Given the description of an element on the screen output the (x, y) to click on. 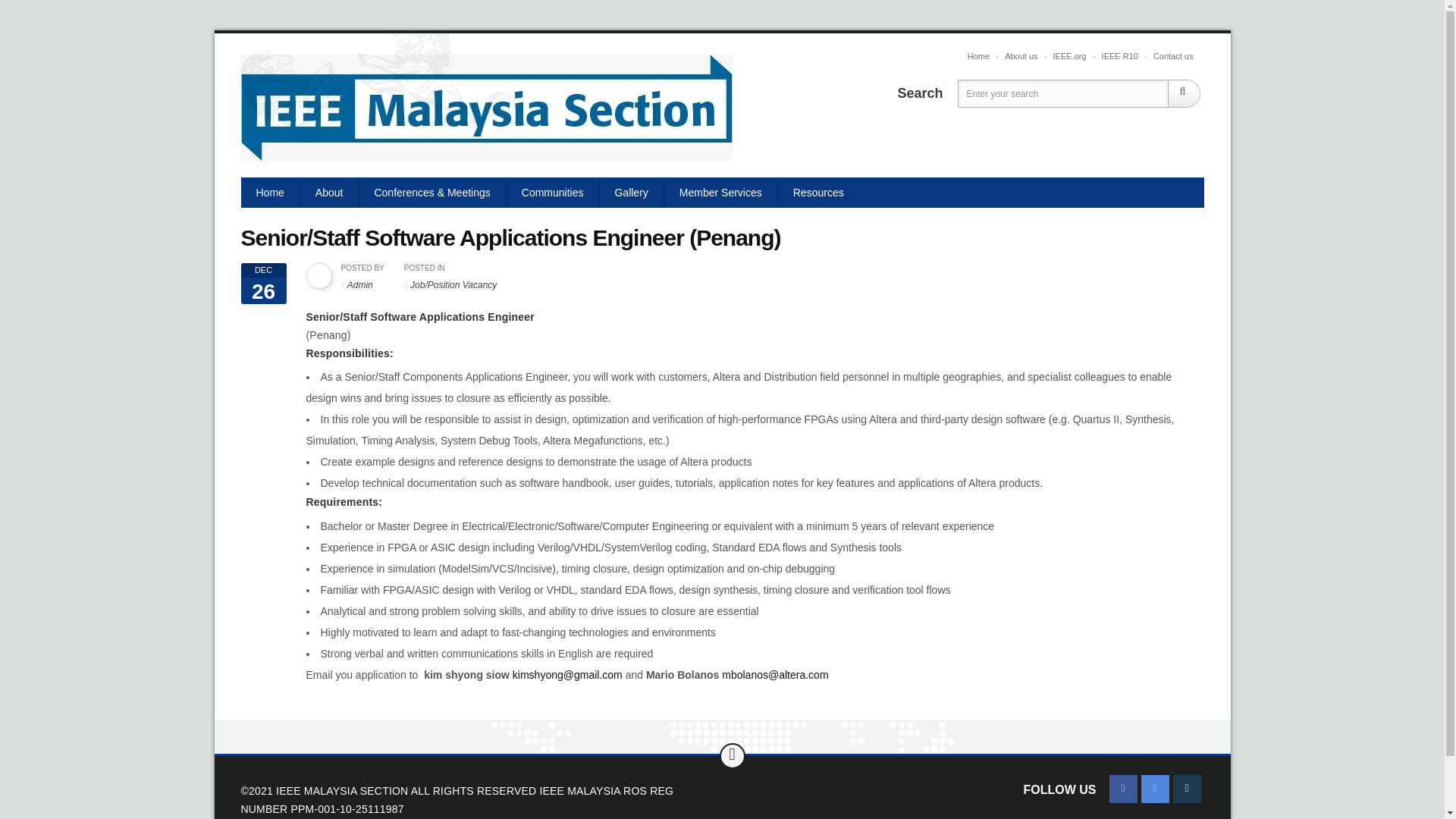
Member Services (720, 192)
About us (1021, 56)
Contact us (1173, 56)
Home (978, 56)
Home (270, 192)
IEEE.org (1069, 56)
Gallery (630, 192)
IEEE R10 (1119, 56)
Communities (552, 192)
About (329, 192)
